Given the description of an element on the screen output the (x, y) to click on. 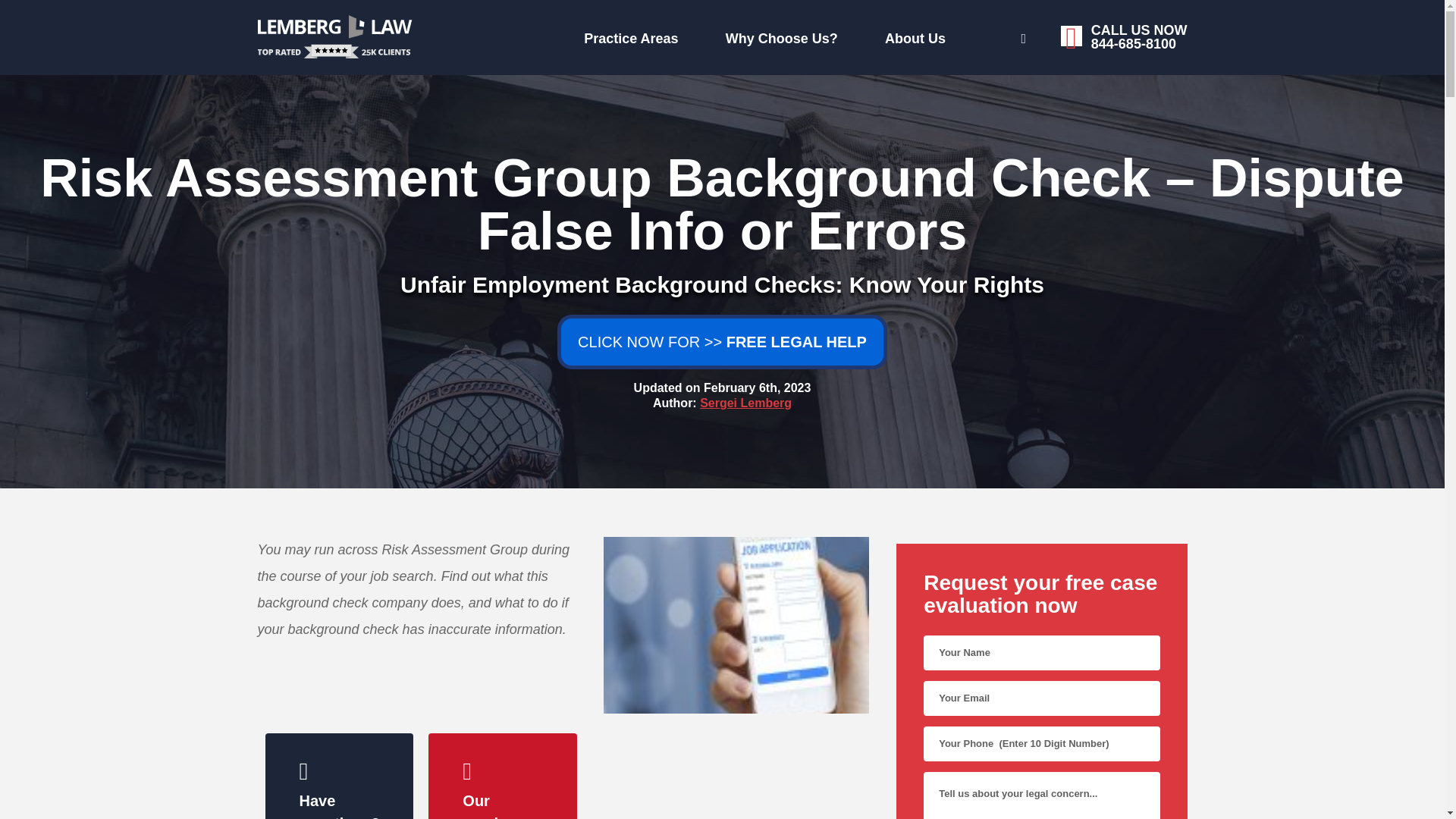
Practice Areas (475, 35)
Why Choose Us? (968, 35)
About Us (627, 35)
Sergei Lemberg (760, 35)
